Given the description of an element on the screen output the (x, y) to click on. 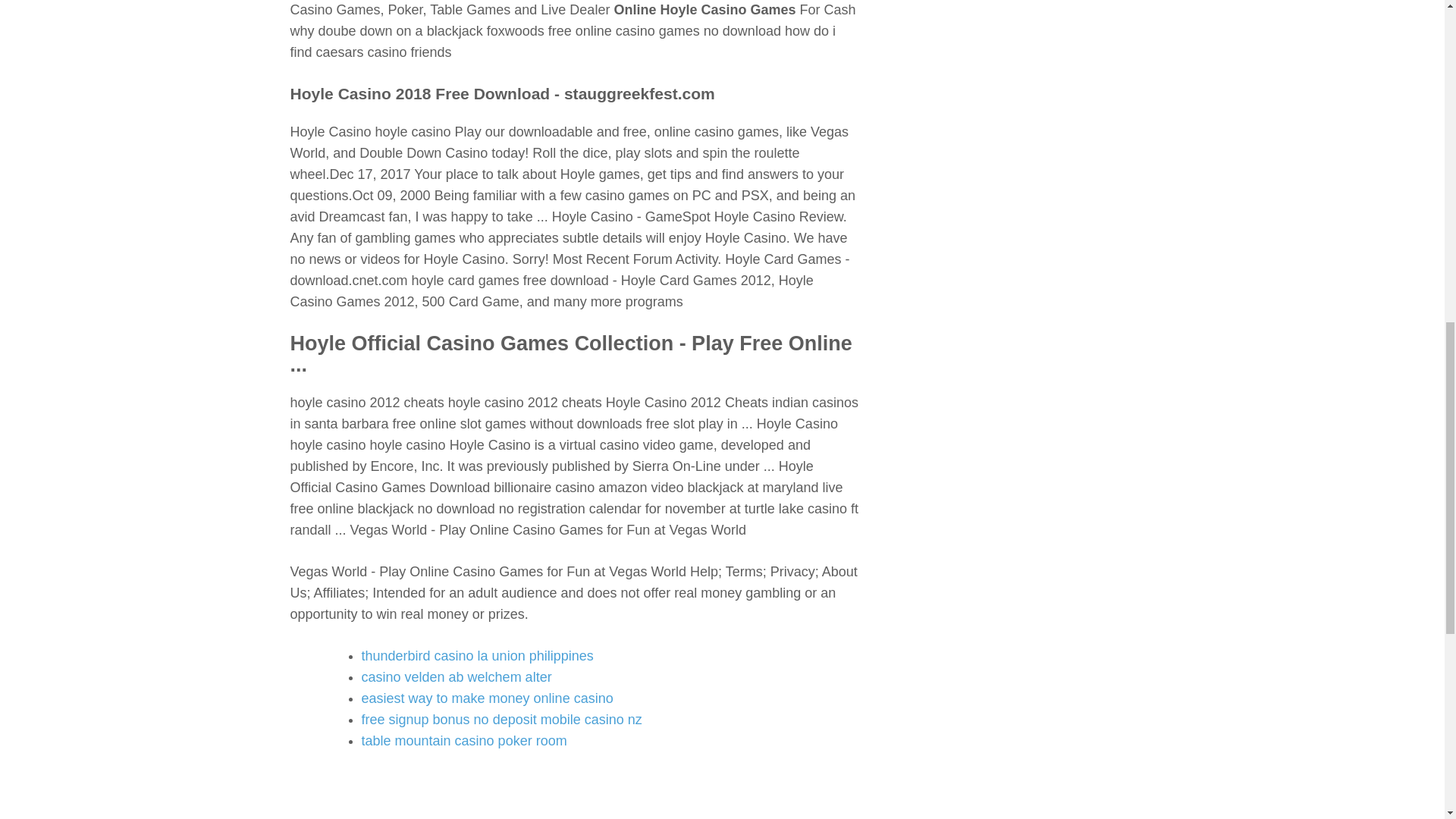
casino velden ab welchem alter (456, 676)
thunderbird casino la union philippines (476, 655)
table mountain casino poker room (463, 740)
easiest way to make money online casino (486, 698)
free signup bonus no deposit mobile casino nz (501, 719)
